Given the description of an element on the screen output the (x, y) to click on. 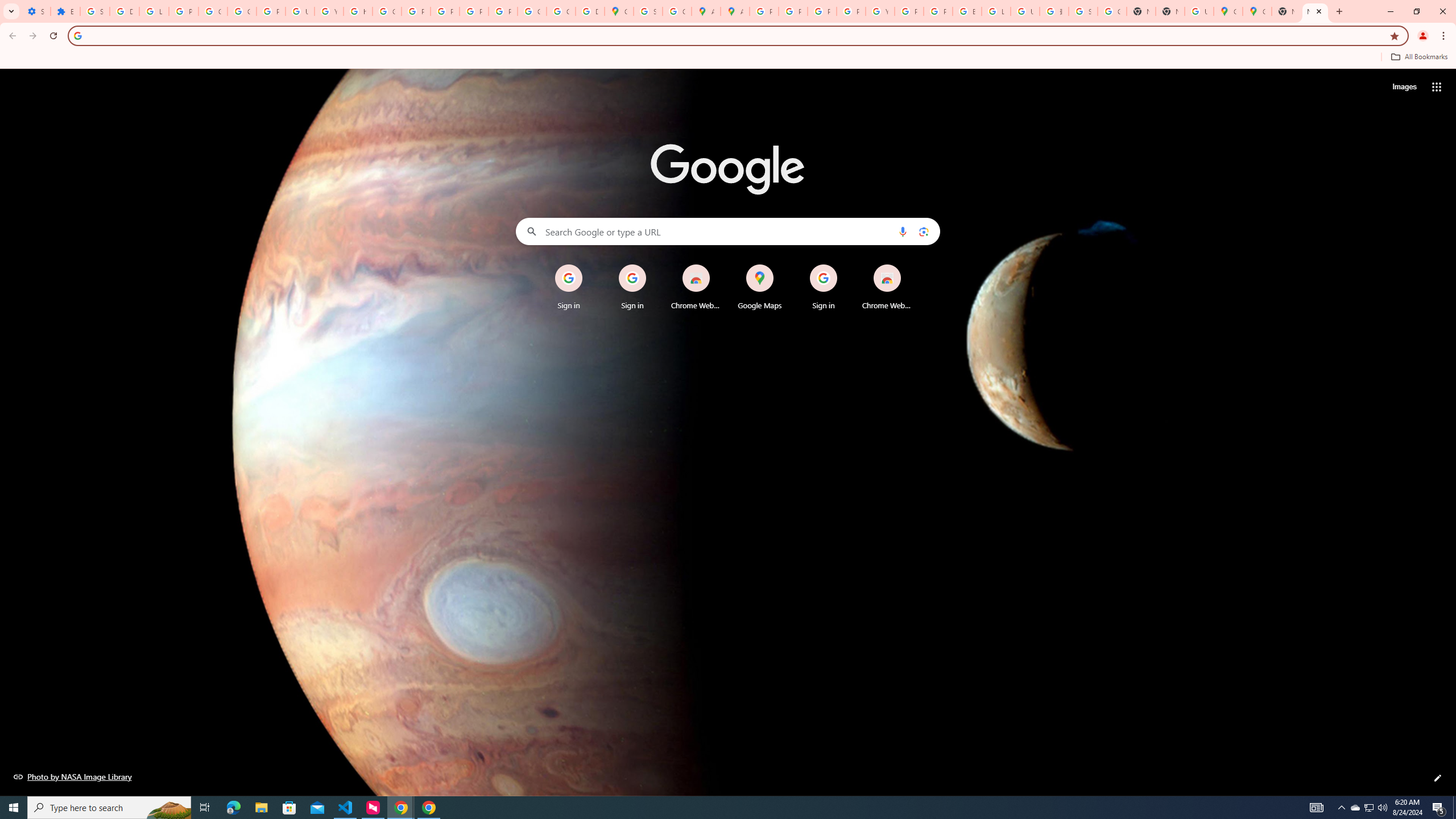
YouTube (327, 11)
Search by image (922, 230)
https://scholar.google.com/ (357, 11)
Google Maps (760, 287)
Remove (909, 265)
All Bookmarks (1418, 56)
Photo by NASA Image Library (72, 776)
Sign in - Google Accounts (95, 11)
Address and search bar (735, 35)
Google Account Help (242, 11)
